Given the description of an element on the screen output the (x, y) to click on. 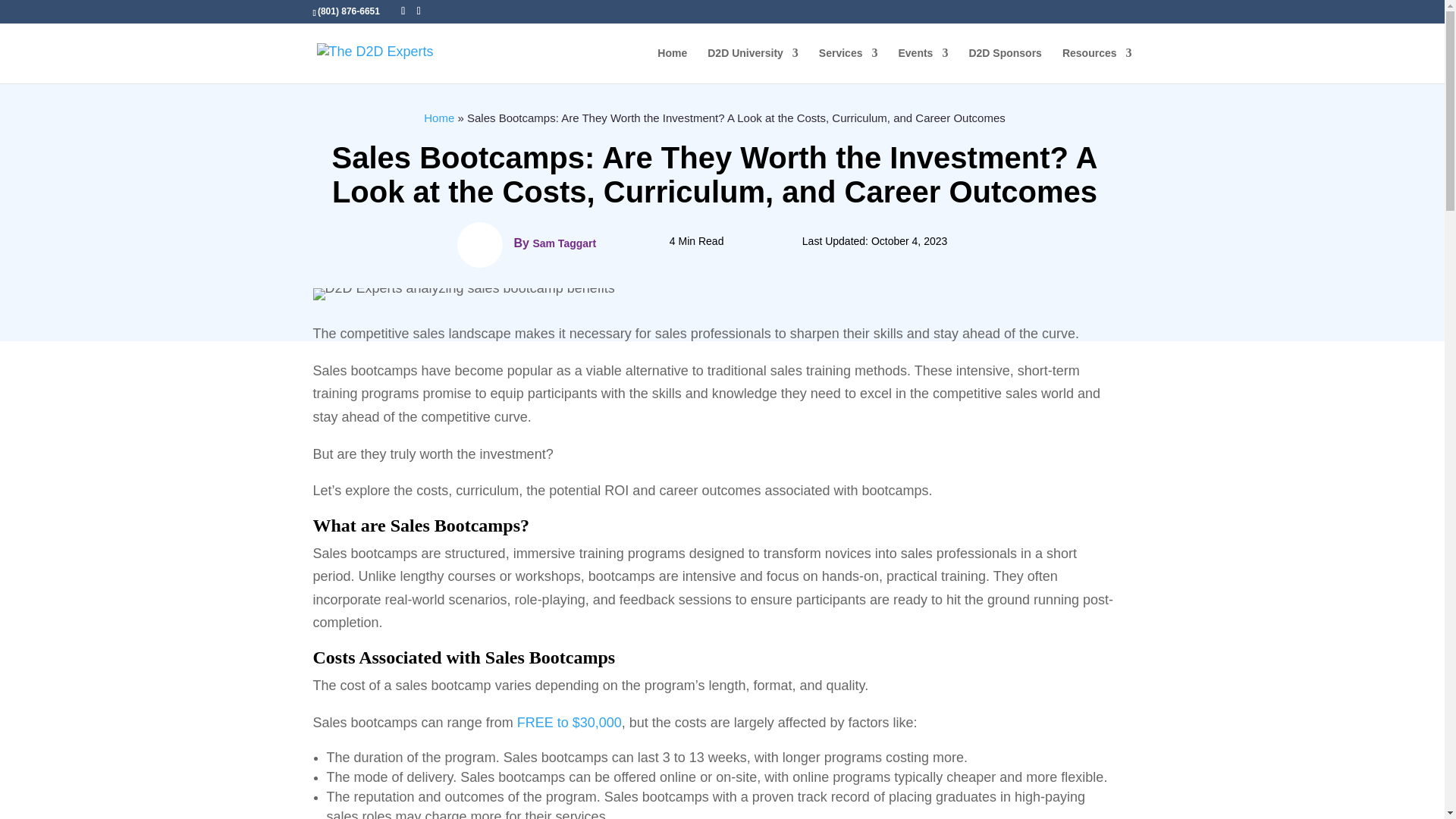
Home (672, 65)
Events (922, 65)
Resources (1097, 65)
Services (847, 65)
D2D Sponsors (1004, 65)
D2D University (752, 65)
